Given the description of an element on the screen output the (x, y) to click on. 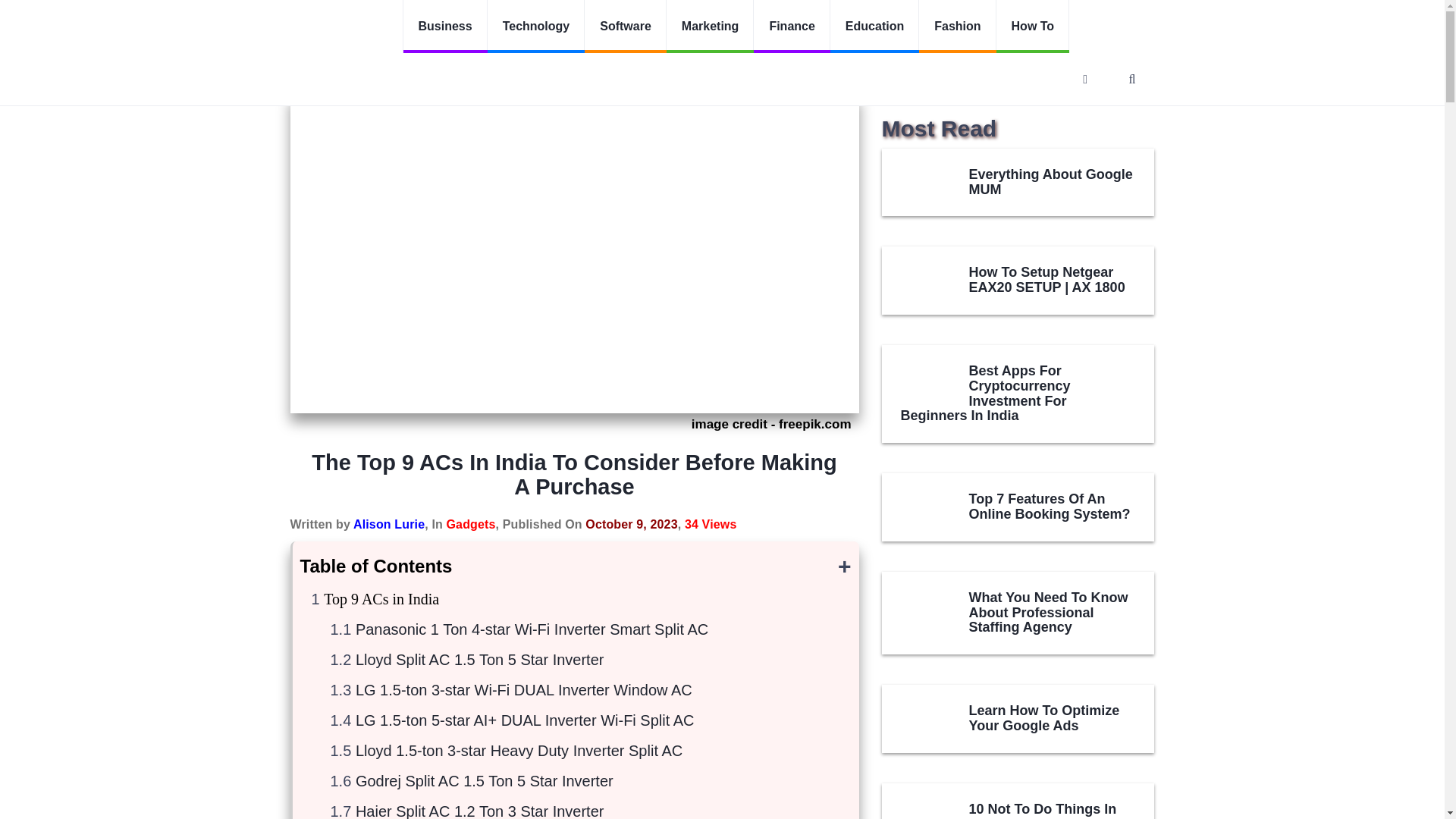
Panasonic 1 Ton 4-star Wi-Fi Inverter Smart Split AC (531, 629)
Technology (536, 26)
Lloyd 1.5-ton 3-star Heavy Duty Inverter Split AC (518, 750)
Finance (791, 26)
Learn How to Optimize Your Google Ads (922, 716)
How To (1032, 26)
Education (873, 26)
Top 7 Features Of an Online Booking System? (922, 504)
